Given the description of an element on the screen output the (x, y) to click on. 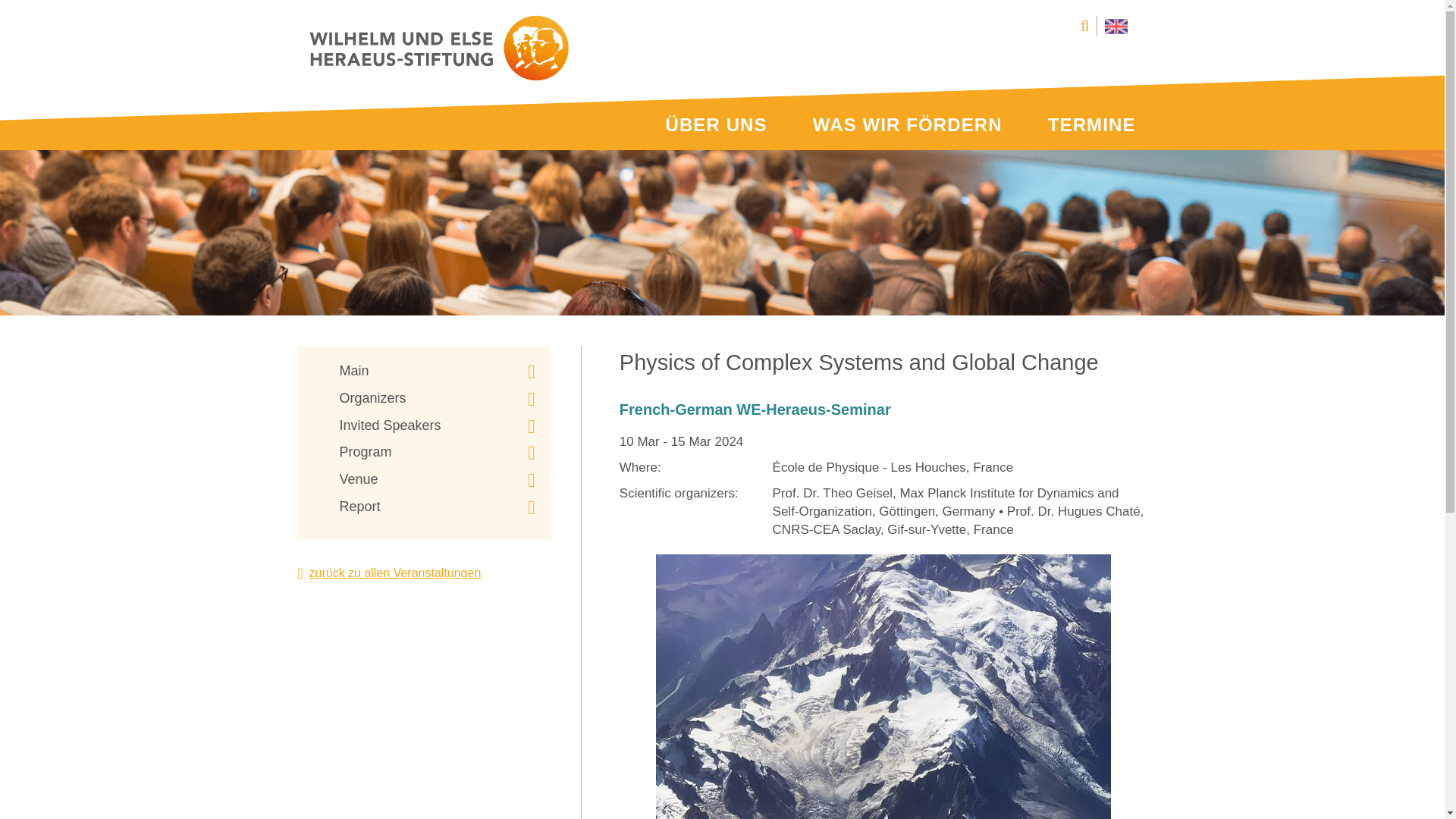
Invited Speakers (437, 425)
Program (437, 452)
Venue (437, 479)
Main (437, 371)
TERMINE (1091, 125)
zur Startseite (438, 48)
Report (437, 506)
Organizers (437, 398)
